Given the description of an element on the screen output the (x, y) to click on. 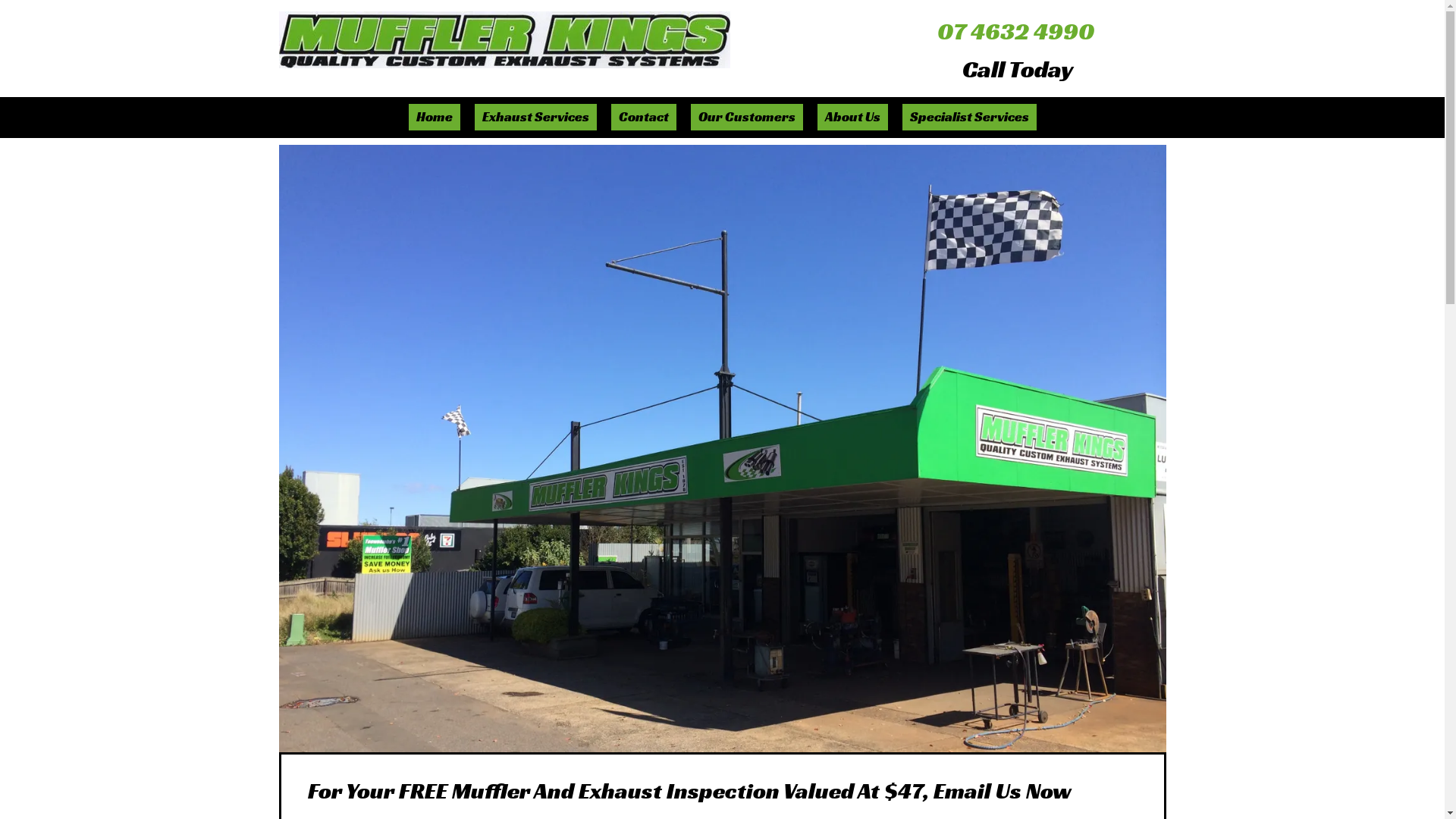
Home Element type: text (433, 116)
Contact Element type: text (643, 116)
IMG_3316 Element type: hover (722, 448)
Specialist Services Element type: text (969, 116)
Our Customers Element type: text (746, 116)
About Us Element type: text (852, 116)
Exhaust Services Element type: text (535, 116)
07 4632 4990 Element type: text (1015, 30)
Muffler Kings Custom Exhaust Systems Logo Element type: hover (504, 39)
